Given the description of an element on the screen output the (x, y) to click on. 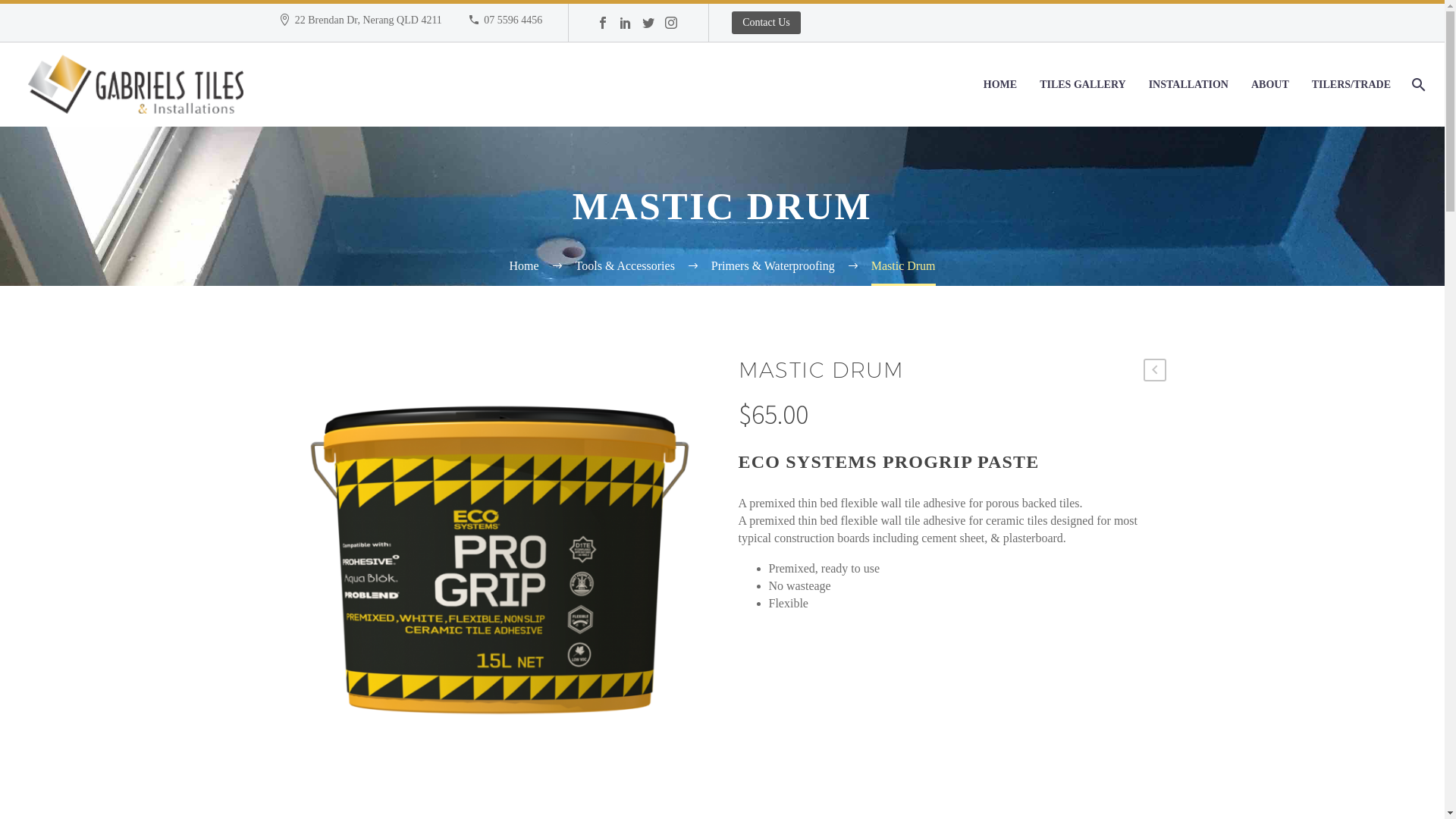
Primers & Waterproofing Element type: text (772, 265)
Home Element type: text (523, 265)
HOME Element type: text (1000, 84)
Contact Us Element type: text (765, 22)
ABOUT Element type: text (1269, 84)
TILES GALLERY Element type: text (1082, 84)
Instagram Element type: hover (670, 25)
Tools & Accessories Element type: text (624, 265)
LinkedIn Element type: hover (625, 25)
INSTALLATION Element type: text (1188, 84)
Facebook Element type: hover (602, 25)
07 5596 4456 Element type: text (512, 19)
TILERS/TRADE Element type: text (1351, 84)
Twitter Element type: hover (648, 25)
